Given the description of an element on the screen output the (x, y) to click on. 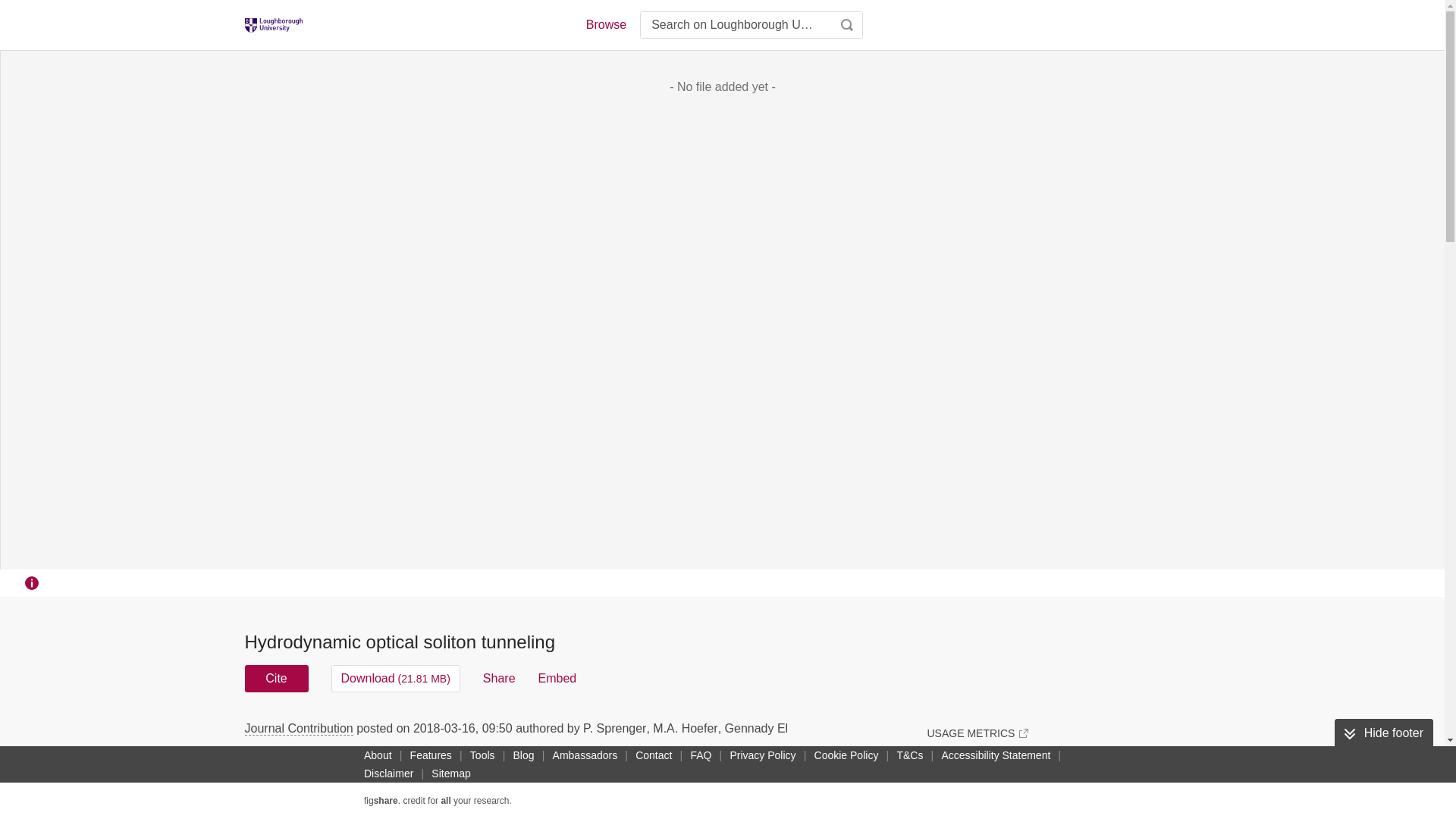
About (377, 755)
Contact (653, 755)
Embed (557, 678)
USAGE METRICS (976, 732)
Ambassadors (585, 755)
Disclaimer (388, 773)
Browse (605, 24)
Features (431, 755)
Blog (523, 755)
Sitemap (450, 773)
